Given the description of an element on the screen output the (x, y) to click on. 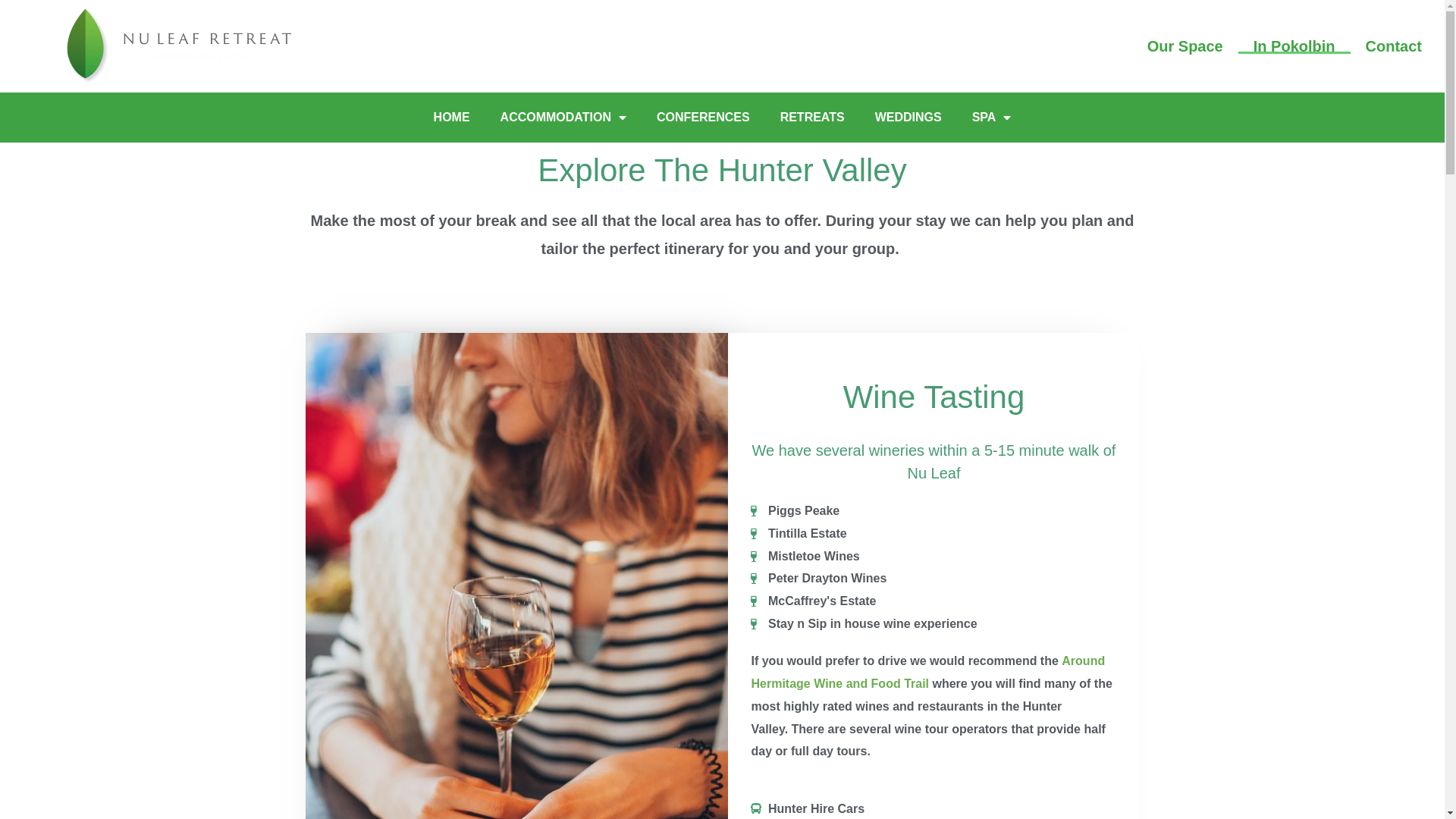
ACCOMMODATION Element type: text (563, 117)
Contact Element type: text (1393, 45)
HOME Element type: text (451, 117)
Stay n Sip in house wine experience Element type: text (933, 623)
WEDDINGS Element type: text (908, 117)
SPA Element type: text (991, 117)
Tintilla Estate Element type: text (933, 533)
In Pokolbin Element type: text (1294, 45)
CONFERENCES Element type: text (703, 117)
McCaffrey's Estate Element type: text (933, 600)
Our Space Element type: text (1185, 45)
Piggs Peake Element type: text (933, 510)
Around Hermitage Wine and Food Trail Element type: text (927, 672)
RETREATS Element type: text (812, 117)
Mistletoe Wines Element type: text (933, 556)
Peter Drayton Wines Element type: text (933, 578)
